Given the description of an element on the screen output the (x, y) to click on. 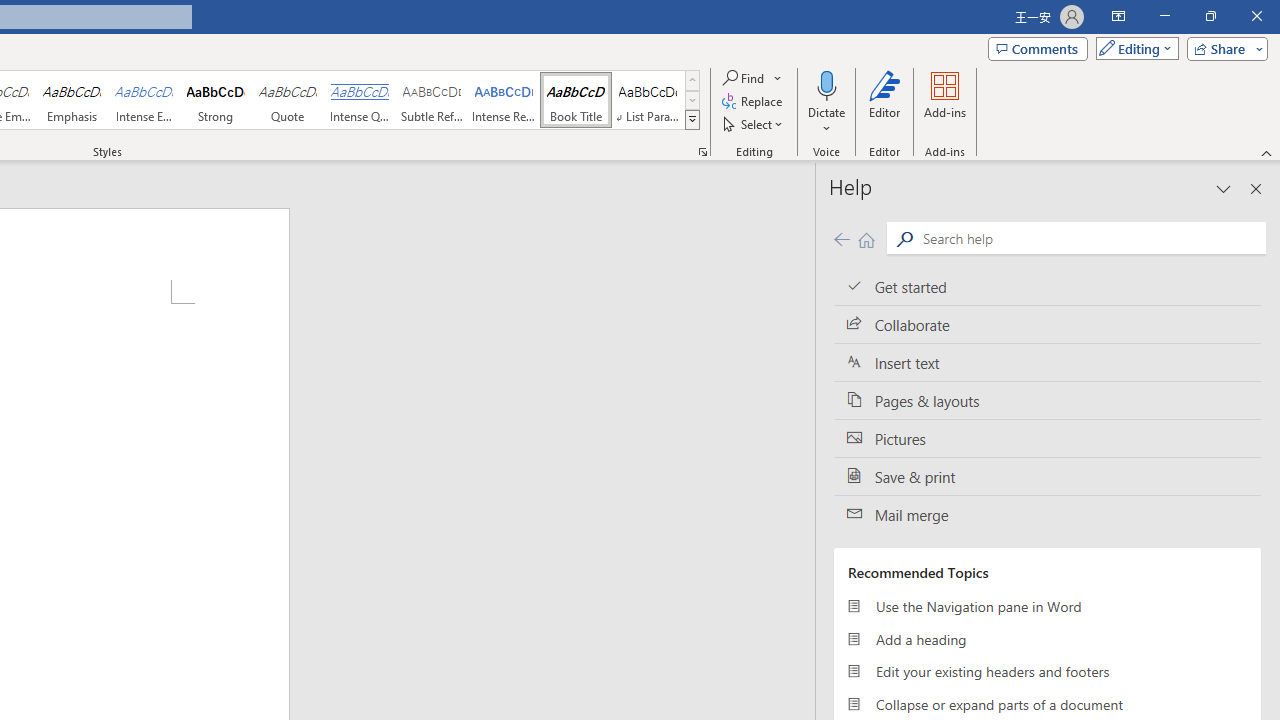
Save & print (1047, 476)
Use the Navigation pane in Word (1047, 605)
